Given the description of an element on the screen output the (x, y) to click on. 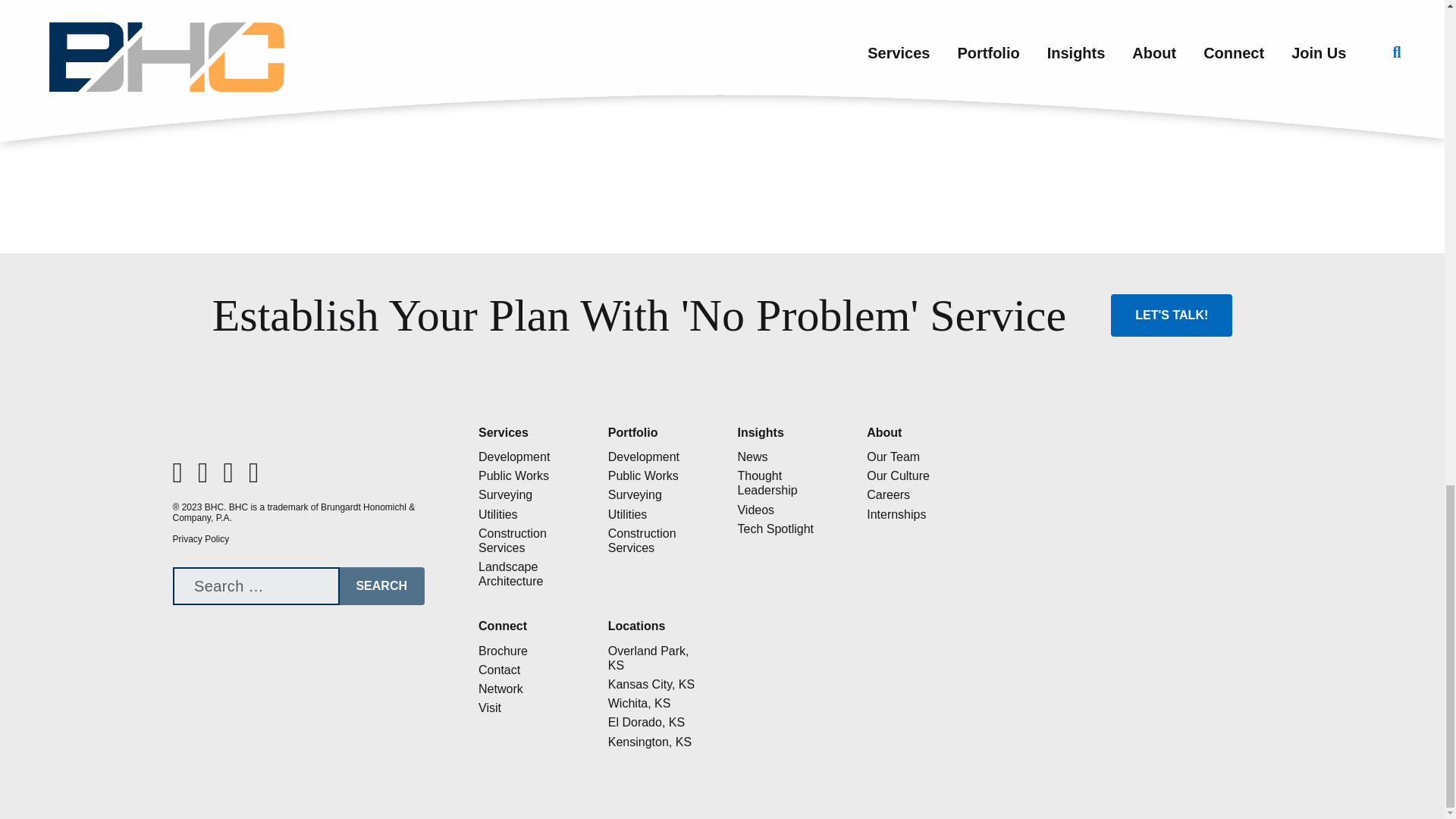
Search (381, 586)
